Given the description of an element on the screen output the (x, y) to click on. 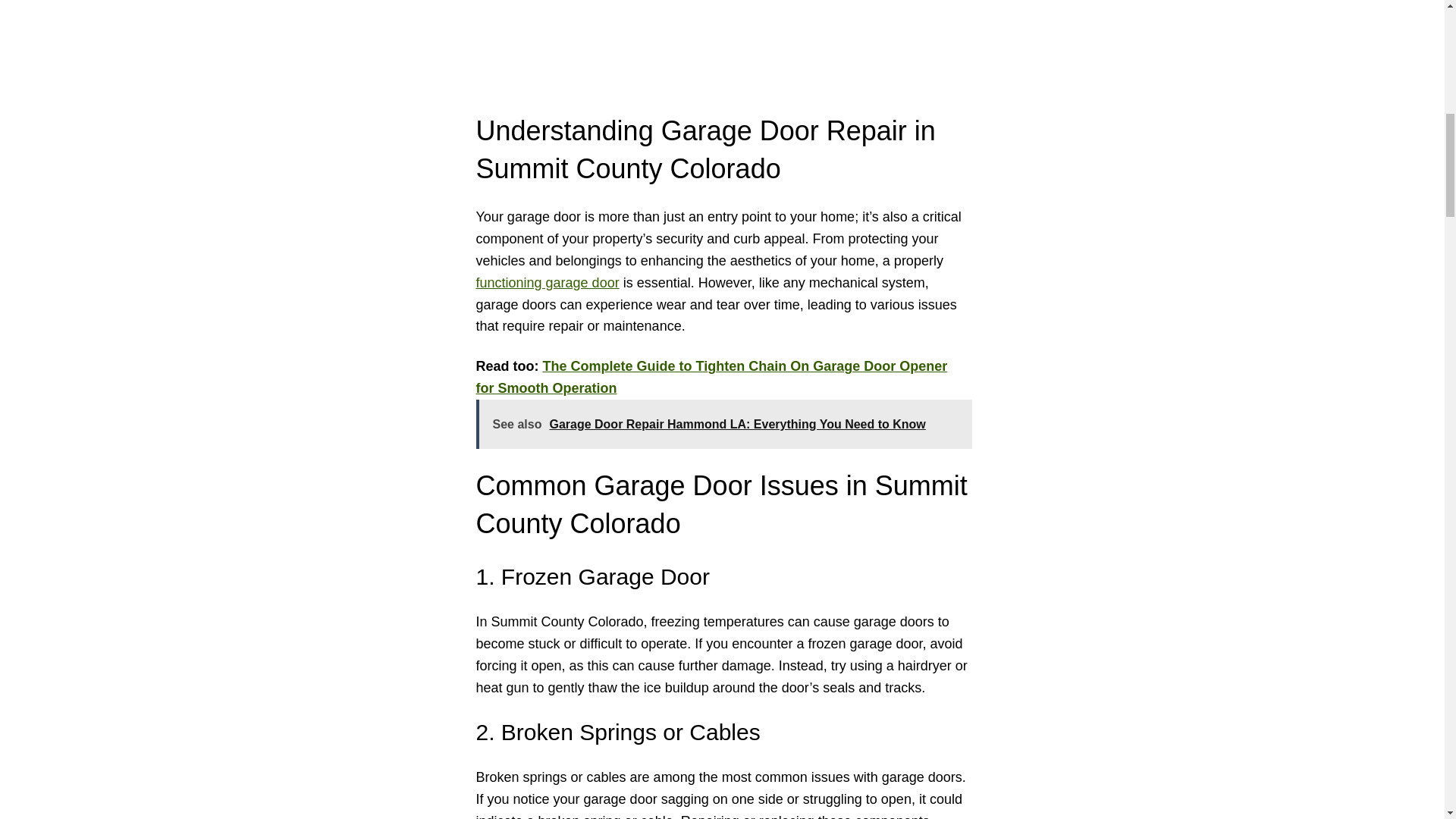
functioning garage door (548, 282)
